Given the description of an element on the screen output the (x, y) to click on. 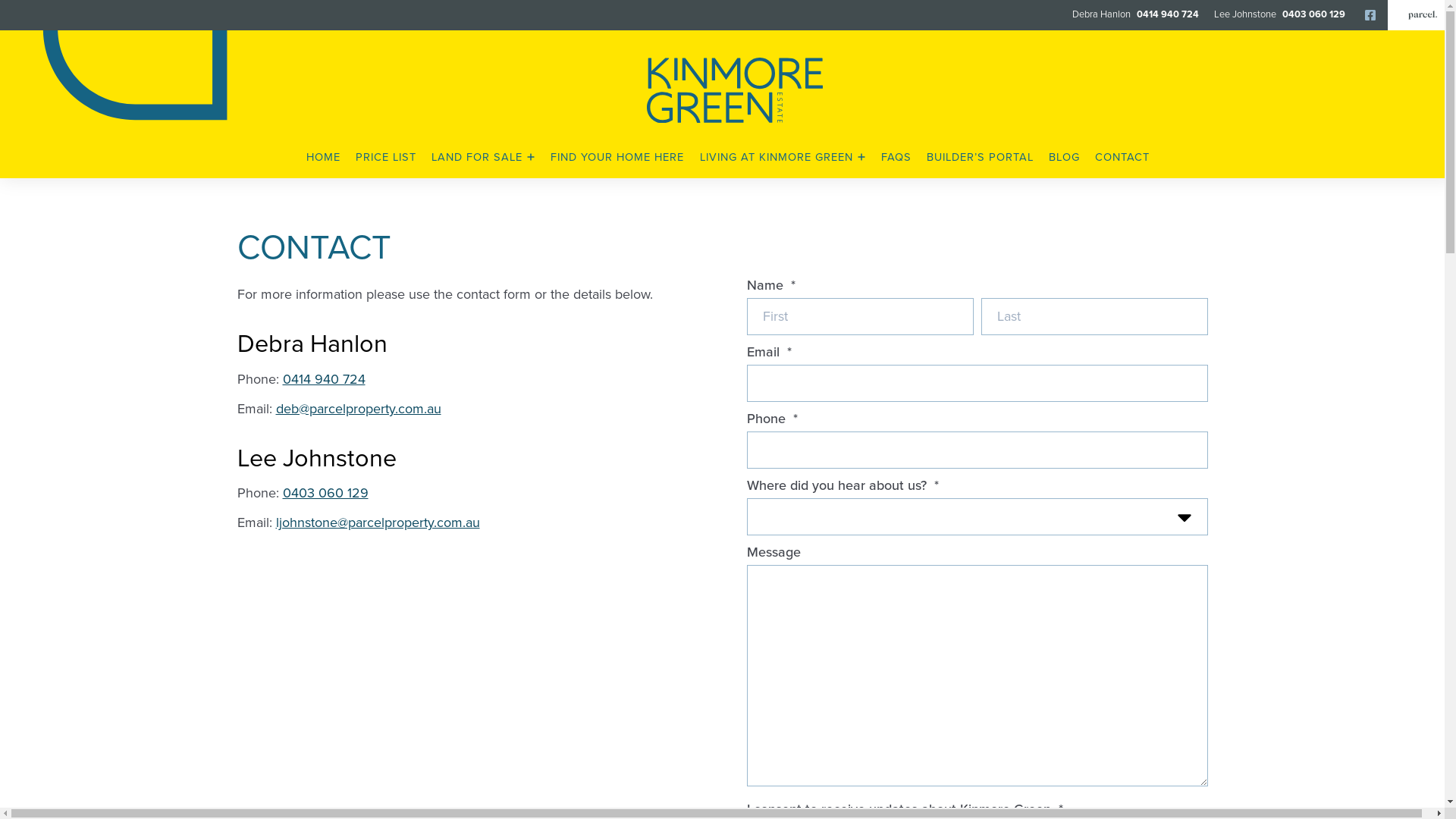
Facebook Element type: text (1370, 15)
BLOG Element type: text (1063, 157)
0414 940 724 Element type: text (323, 378)
0414 940 724 Element type: text (1165, 14)
FIND YOUR HOME HERE Element type: text (617, 157)
LAND FOR SALE Element type: text (483, 157)
0403 060 129 Element type: text (1311, 14)
deb@parcelproperty.com.au Element type: text (358, 408)
FAQS Element type: text (896, 157)
PRICE LIST Element type: text (385, 157)
ljohnstone@parcelproperty.com.au Element type: text (378, 522)
CONTACT Element type: text (1122, 157)
0403 060 129 Element type: text (324, 492)
HOME Element type: text (323, 157)
LIVING AT KINMORE GREEN Element type: text (782, 157)
